Given the description of an element on the screen output the (x, y) to click on. 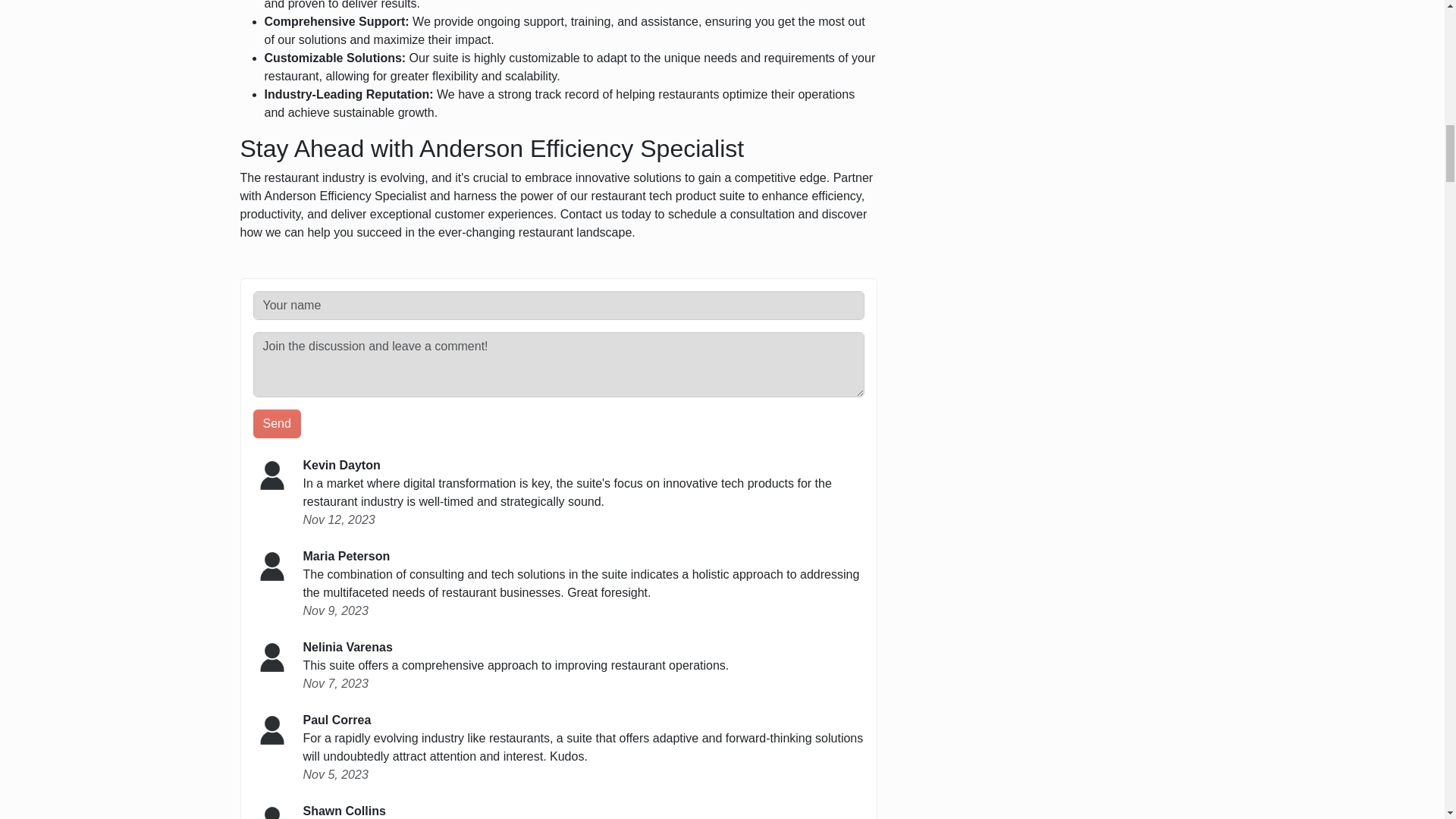
Send (277, 423)
Send (277, 423)
